Given the description of an element on the screen output the (x, y) to click on. 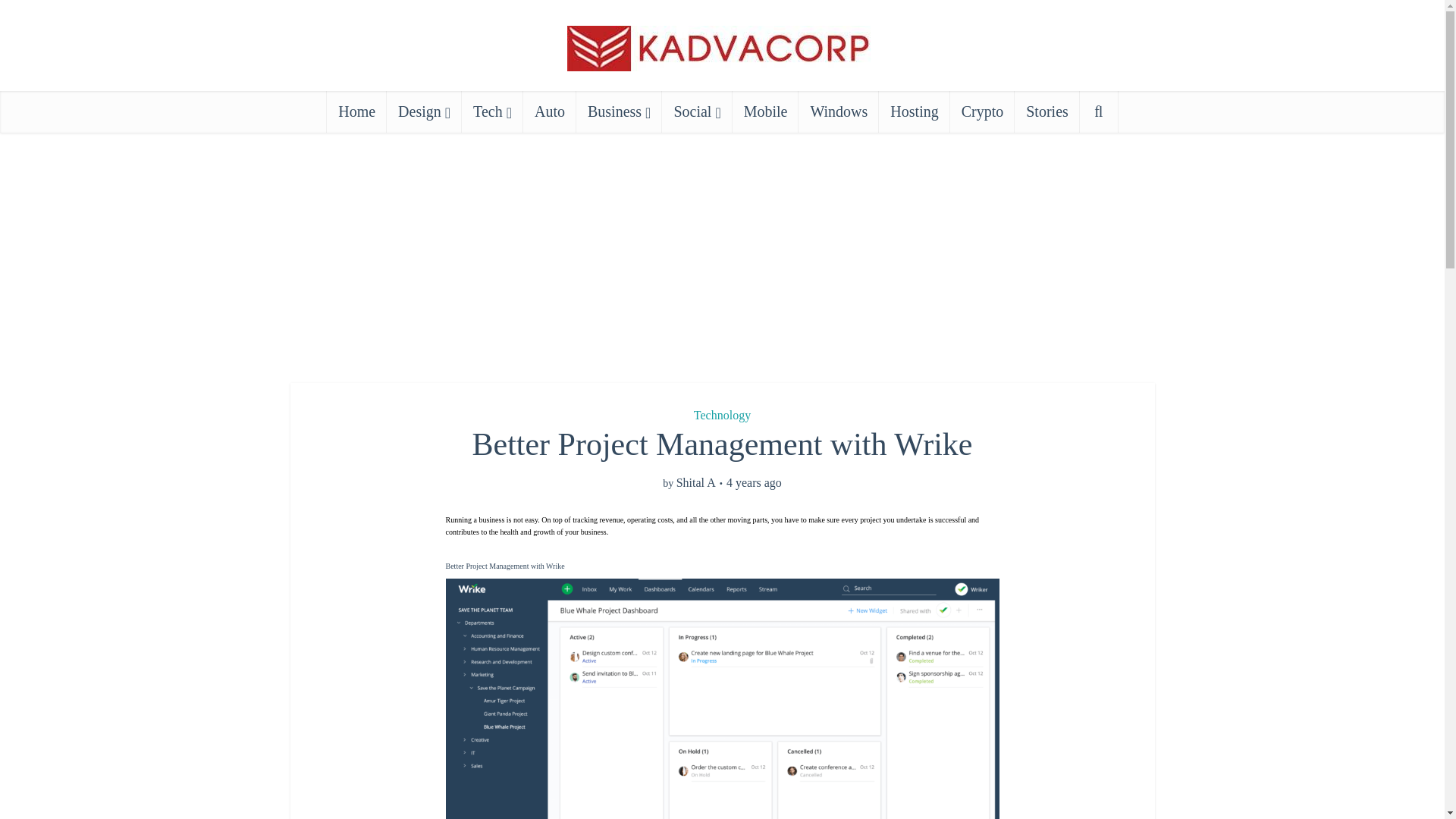
Tech (491, 111)
Hosting (914, 111)
Design (424, 111)
Auto (549, 111)
Stories (1047, 111)
Shital A (696, 483)
Crypto (982, 111)
Home (356, 111)
Mobile (765, 111)
Social (697, 111)
Technology (722, 414)
Windows (838, 111)
Business (619, 111)
